Given the description of an element on the screen output the (x, y) to click on. 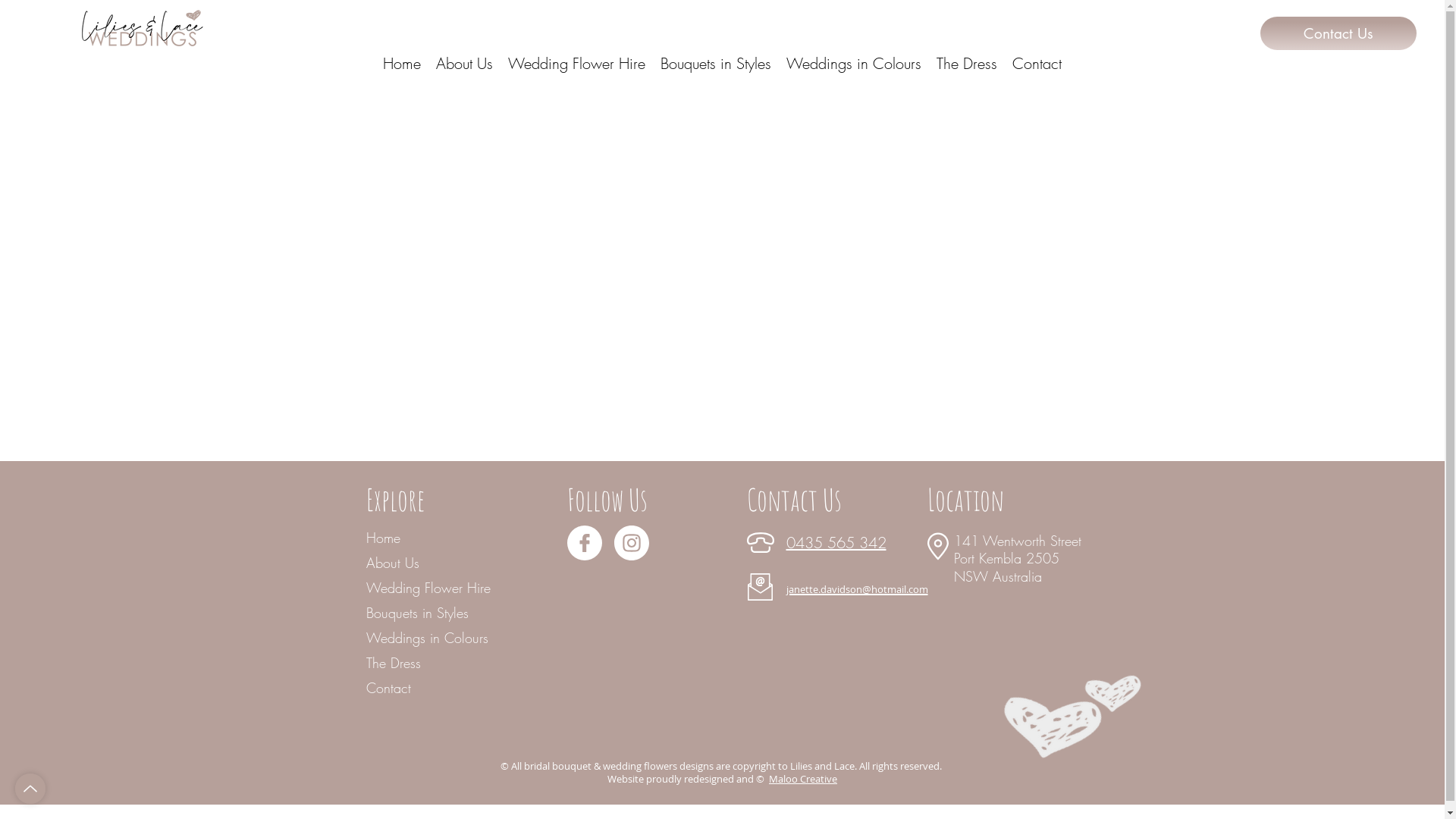
Bouquets in Styles Element type: text (418, 612)
janette.davidson@hotmail.com Element type: text (856, 587)
The Dress Element type: text (966, 63)
Maloo Creative Element type: text (802, 778)
Home Element type: text (418, 537)
About Us Element type: text (418, 562)
Bouquets in Styles Element type: text (715, 63)
The Dress Element type: text (418, 662)
Wedding Flower Hire Element type: text (418, 587)
Contact Element type: text (1036, 63)
Weddings in Colours Element type: text (853, 63)
Weddings in Colours Element type: text (418, 637)
Wedding Flower Hire Element type: text (576, 63)
0435 565 342 Element type: text (835, 542)
Home Element type: text (401, 63)
About Us Element type: text (464, 63)
Contact Element type: text (418, 687)
Contact Us Element type: text (1338, 33)
